Given the description of an element on the screen output the (x, y) to click on. 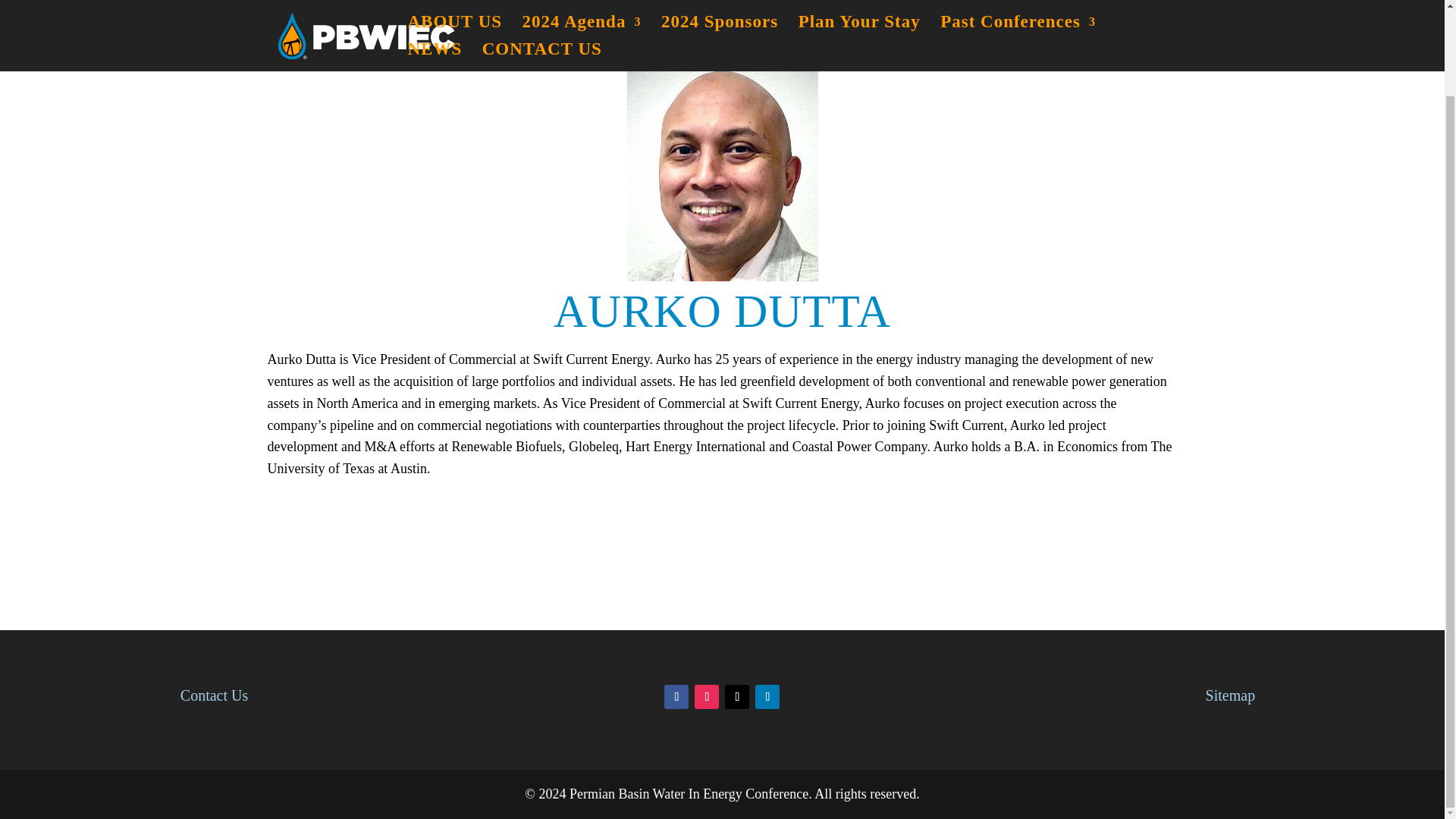
Aurko Dutta Photo (721, 169)
Follow on Facebook (675, 696)
Contact Us (213, 695)
Follow on LinkedIn (766, 696)
Follow on Instagram (706, 696)
Follow on X (737, 696)
Sitemap (1230, 695)
